Given the description of an element on the screen output the (x, y) to click on. 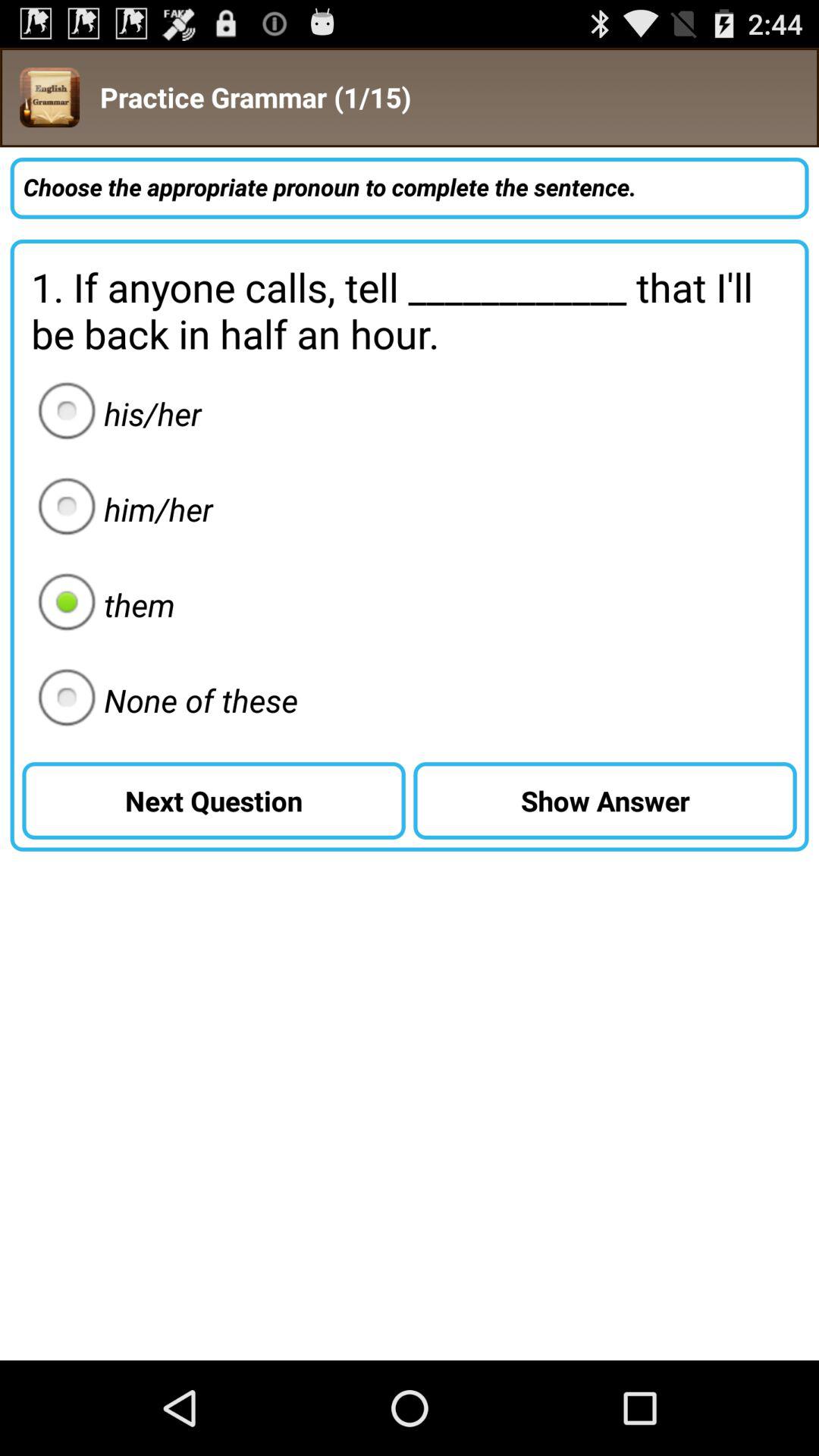
tap the show answer item (604, 800)
